Given the description of an element on the screen output the (x, y) to click on. 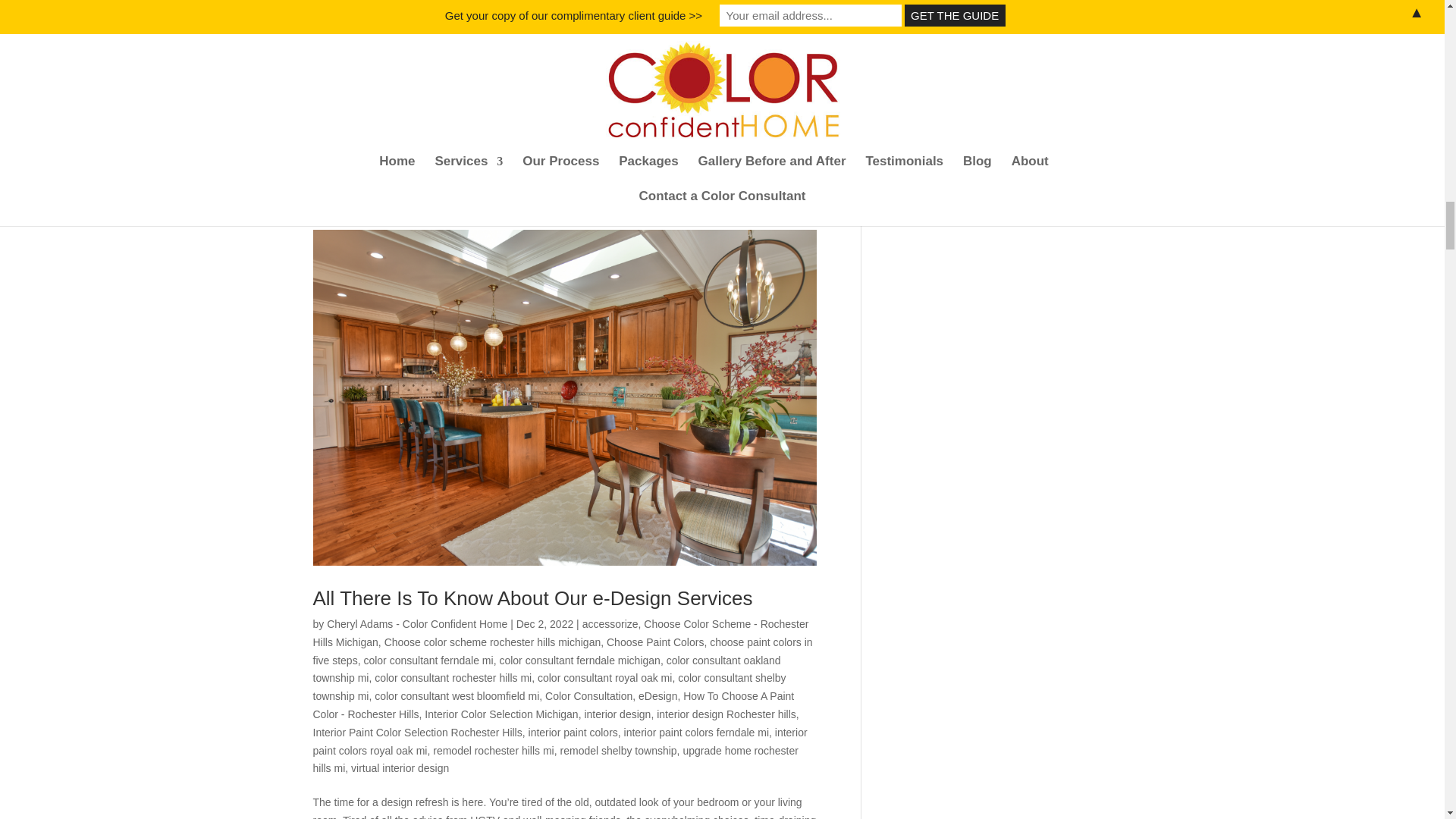
Posts by Cheryl Adams - Color Confident Home (416, 623)
